Given the description of an element on the screen output the (x, y) to click on. 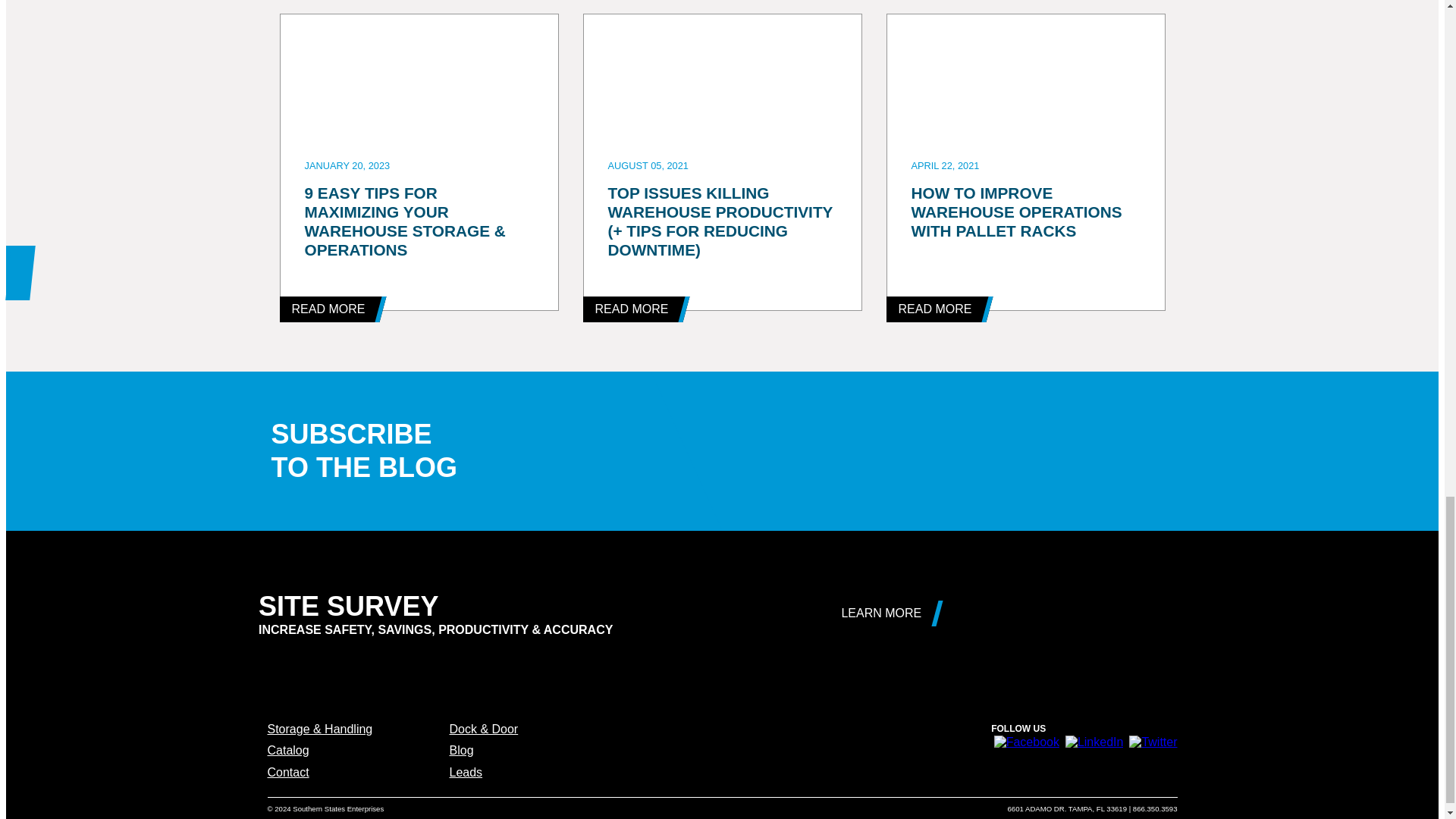
LinkedIn (1094, 742)
LinkedIn (1152, 742)
Facebook (1026, 742)
